Given the description of an element on the screen output the (x, y) to click on. 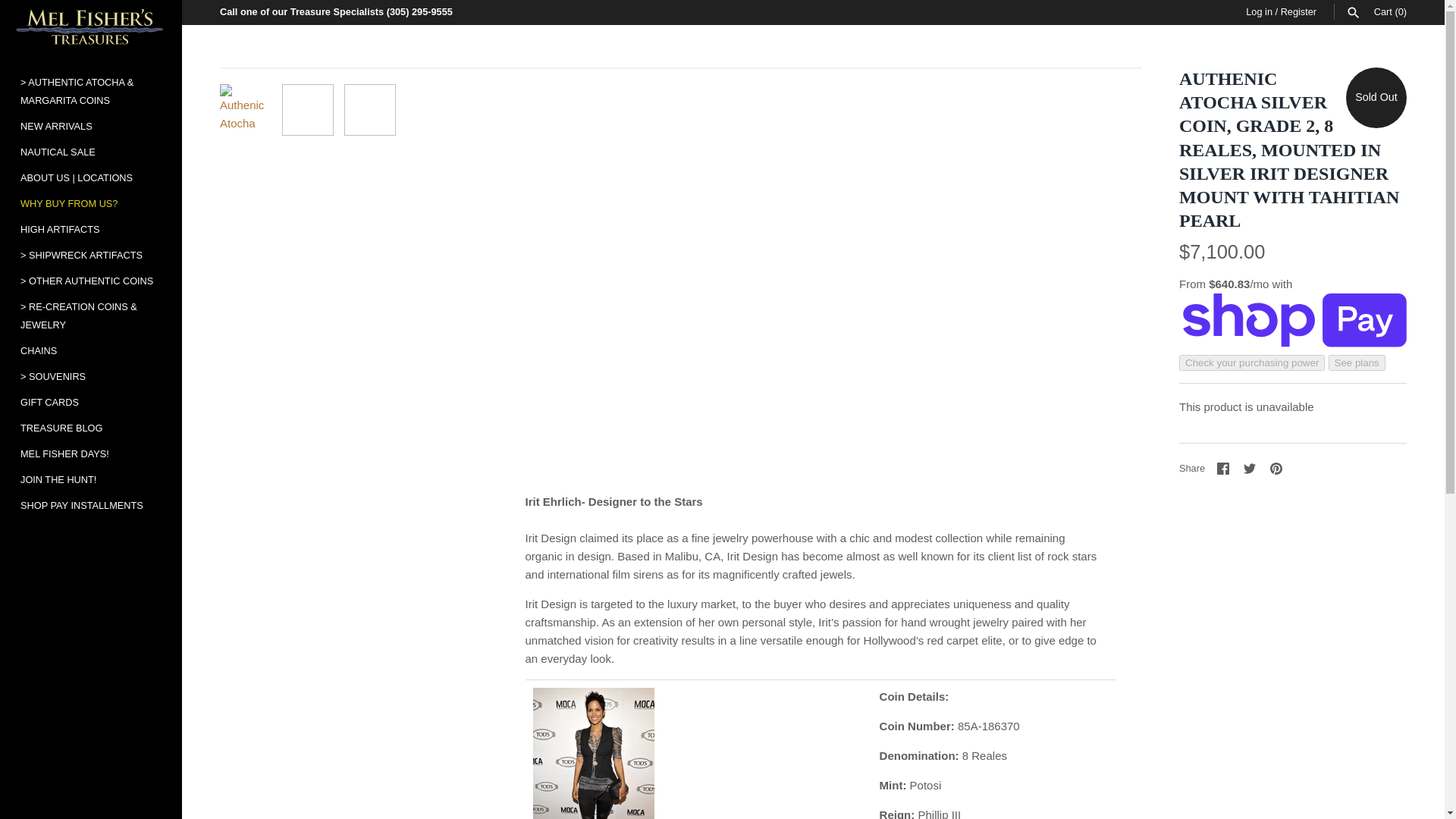
WHY BUY FROM US? (90, 203)
NAUTICAL SALE (90, 152)
HIGH ARTIFACTS (90, 229)
Log in (1259, 11)
Register (1298, 11)
Twitter (1249, 468)
MFST (91, 27)
NEW ARRIVALS (90, 126)
Facebook (1222, 468)
Pinterest (1275, 468)
